Given the description of an element on the screen output the (x, y) to click on. 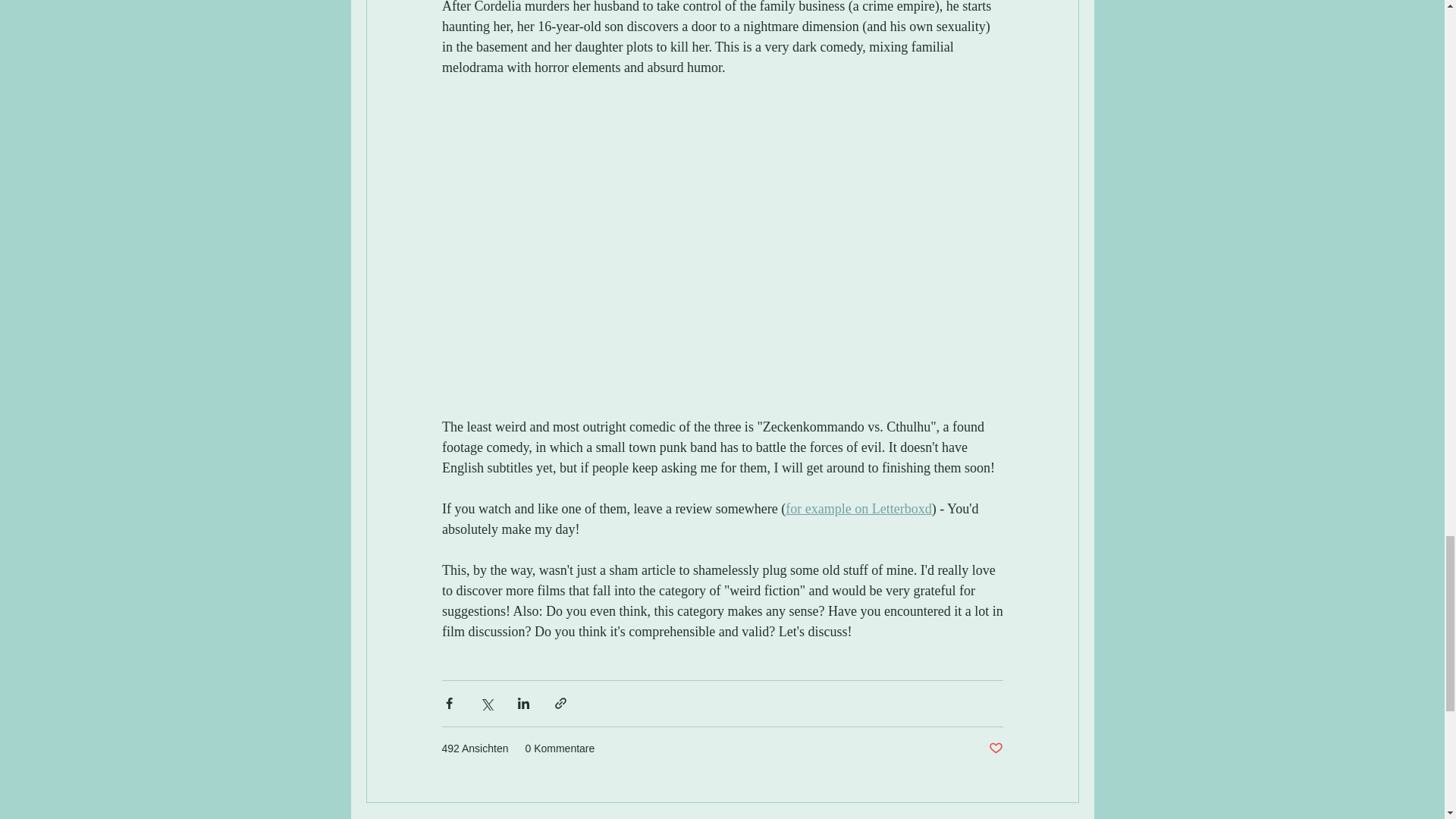
for example on Letterboxd (858, 508)
